Given the description of an element on the screen output the (x, y) to click on. 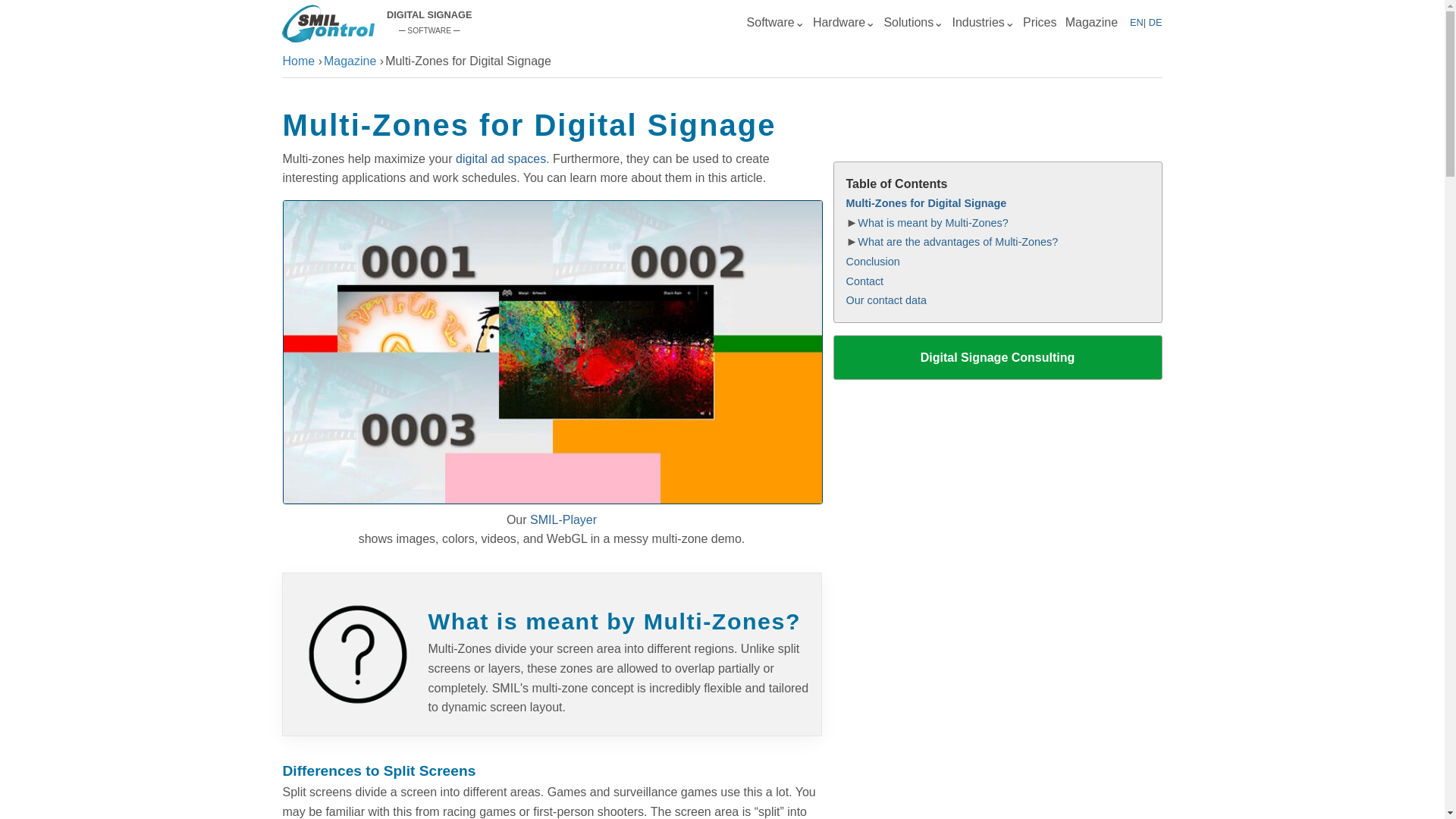
Convincing technology (775, 21)
Solutions (913, 21)
Software (775, 21)
Our thoughts (1091, 21)
What can you expect (913, 21)
Deutsch (1153, 21)
How much? (1040, 21)
Industries (982, 21)
For whom (982, 21)
